Given the description of an element on the screen output the (x, y) to click on. 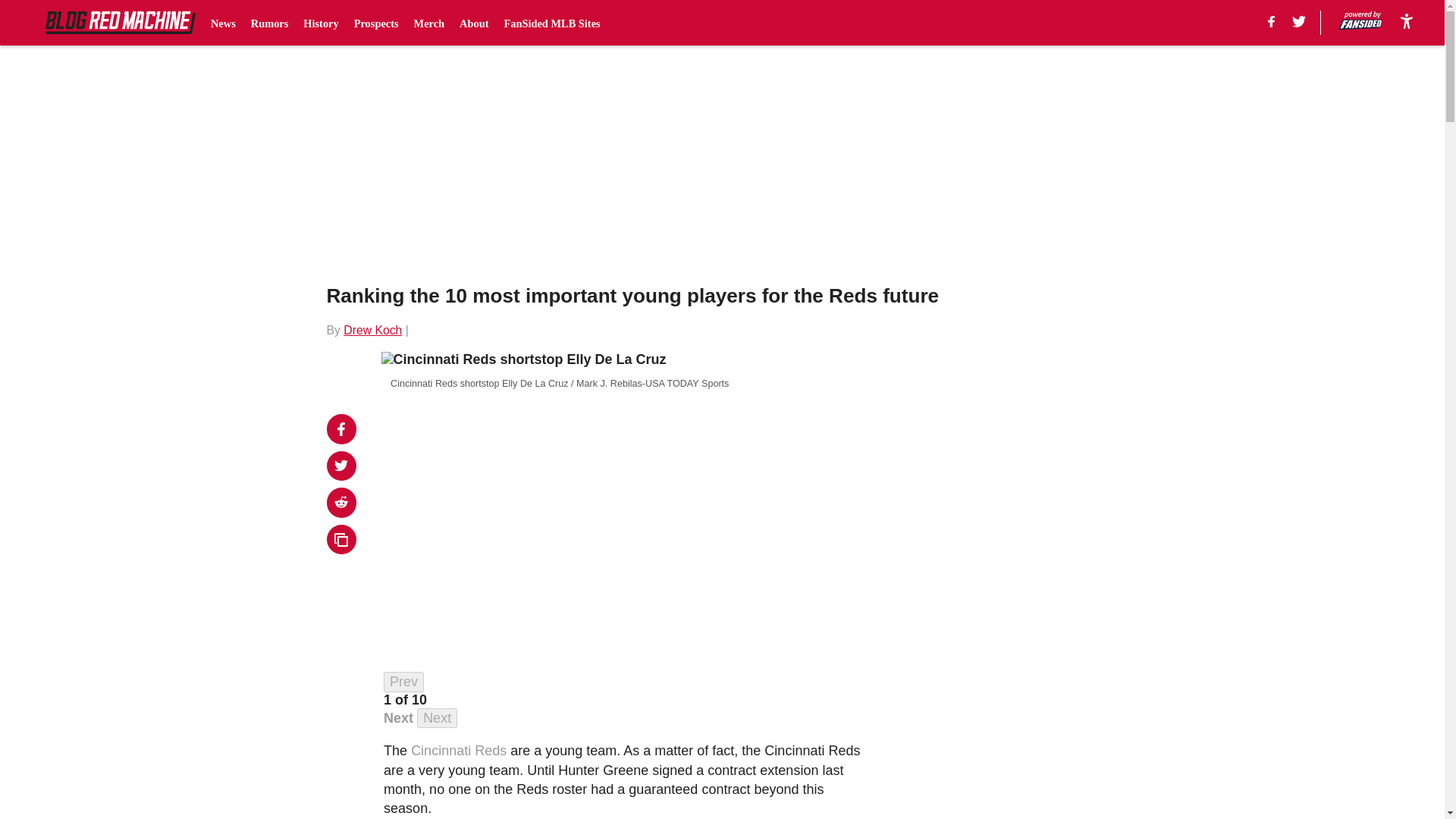
History (319, 23)
Prospects (375, 23)
Merch (429, 23)
Cincinnati Reds (458, 750)
Rumors (269, 23)
Drew Koch (372, 329)
News (223, 23)
Next (398, 717)
FanSided MLB Sites (551, 23)
Next (436, 718)
Prev (403, 681)
About (473, 23)
